Given the description of an element on the screen output the (x, y) to click on. 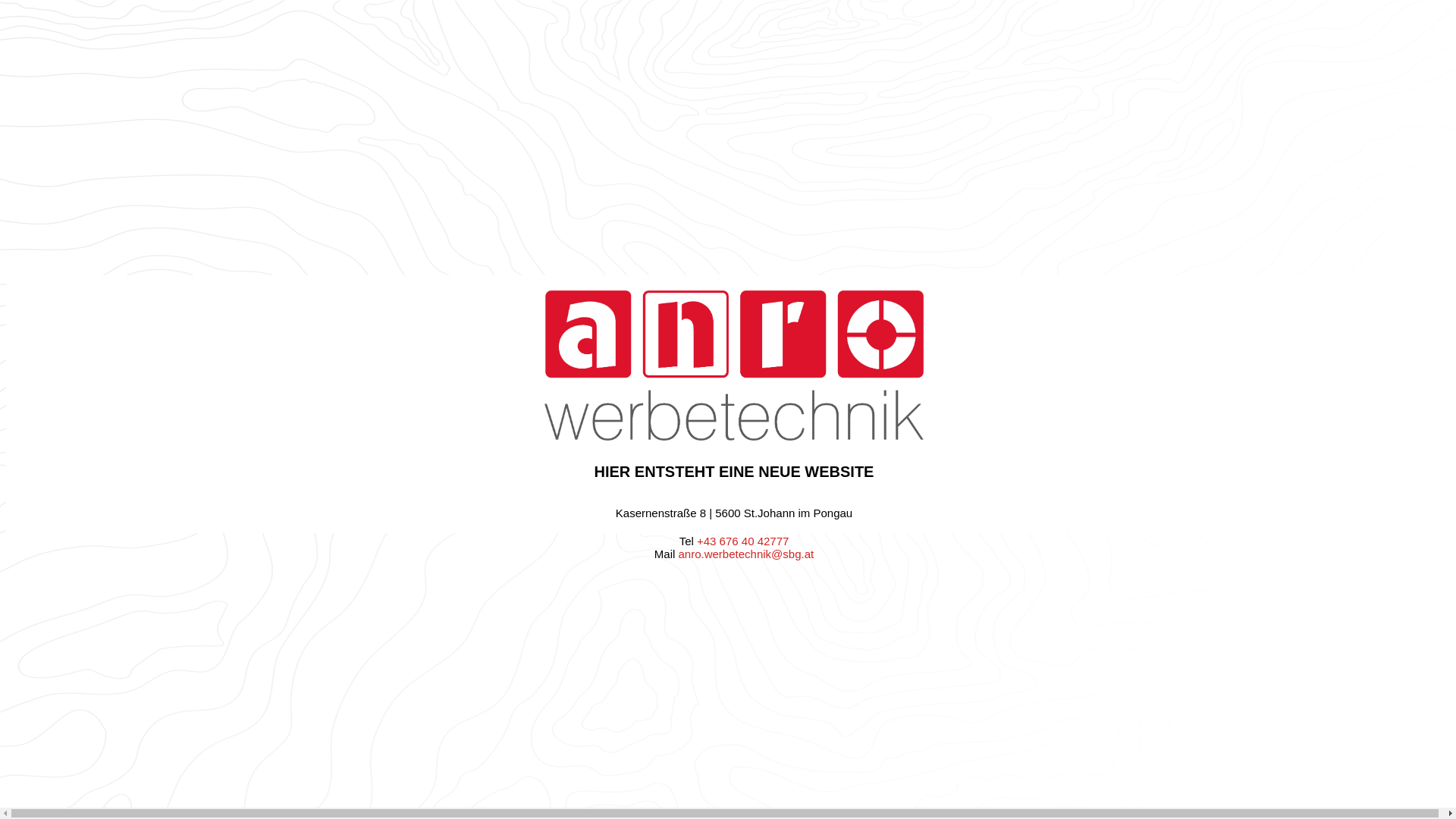
+43 676 40 42777 Element type: text (742, 540)
anro.werbetechnik@sbg.at Element type: text (745, 553)
